Given the description of an element on the screen output the (x, y) to click on. 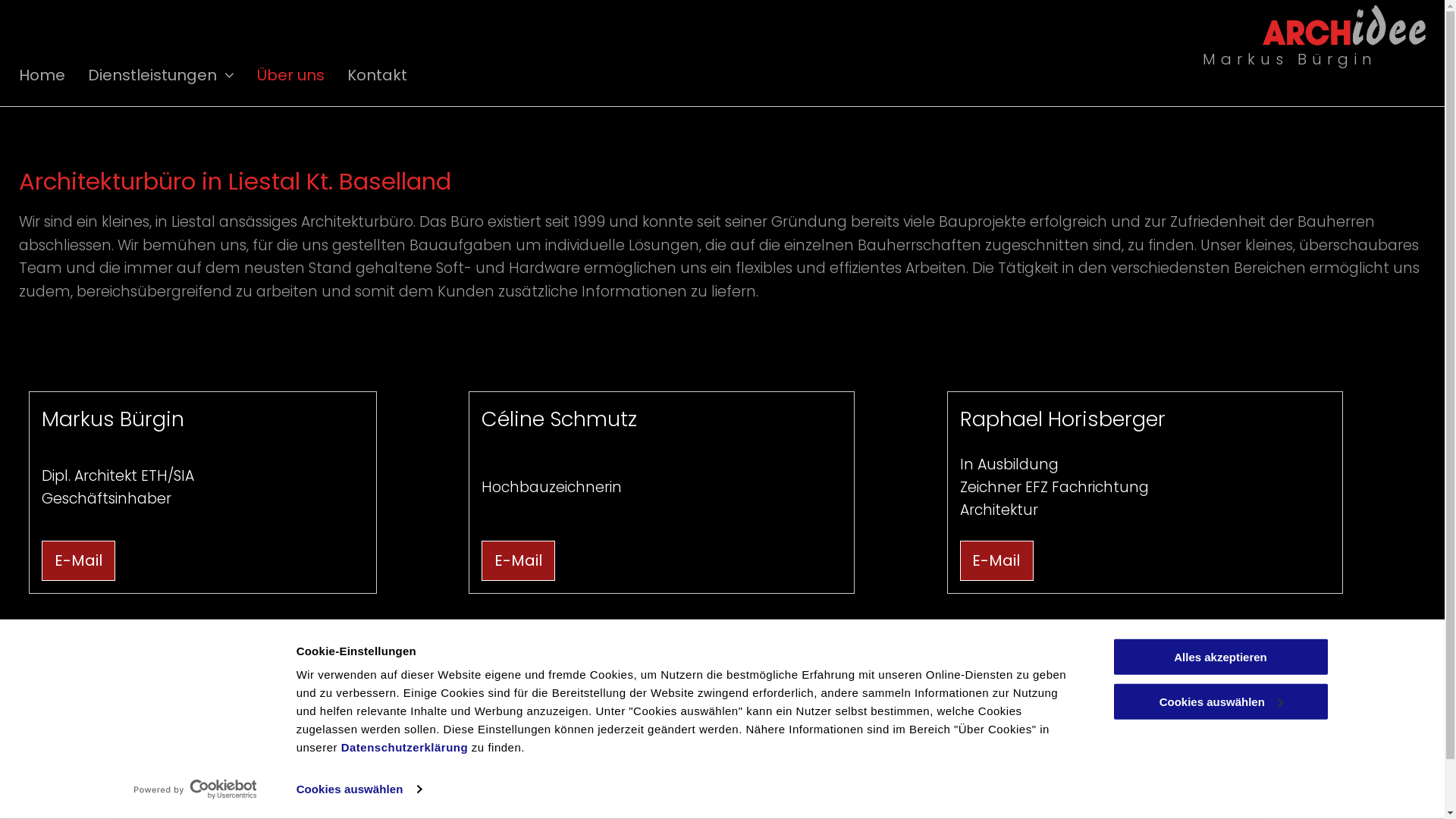
Kontakt Element type: text (388, 74)
Alles akzeptieren Element type: text (1219, 656)
Dienstleistungen Element type: text (172, 74)
E-Mail Element type: text (78, 560)
Impressum Element type: text (1240, 721)
markus.buergin@archidee-mb.ch Element type: text (359, 776)
E-Mail Element type: text (996, 560)
E-Mail Element type: text (518, 560)
+41 61 923 93 43 Element type: text (299, 732)
Home Element type: text (52, 74)
